Given the description of an element on the screen output the (x, y) to click on. 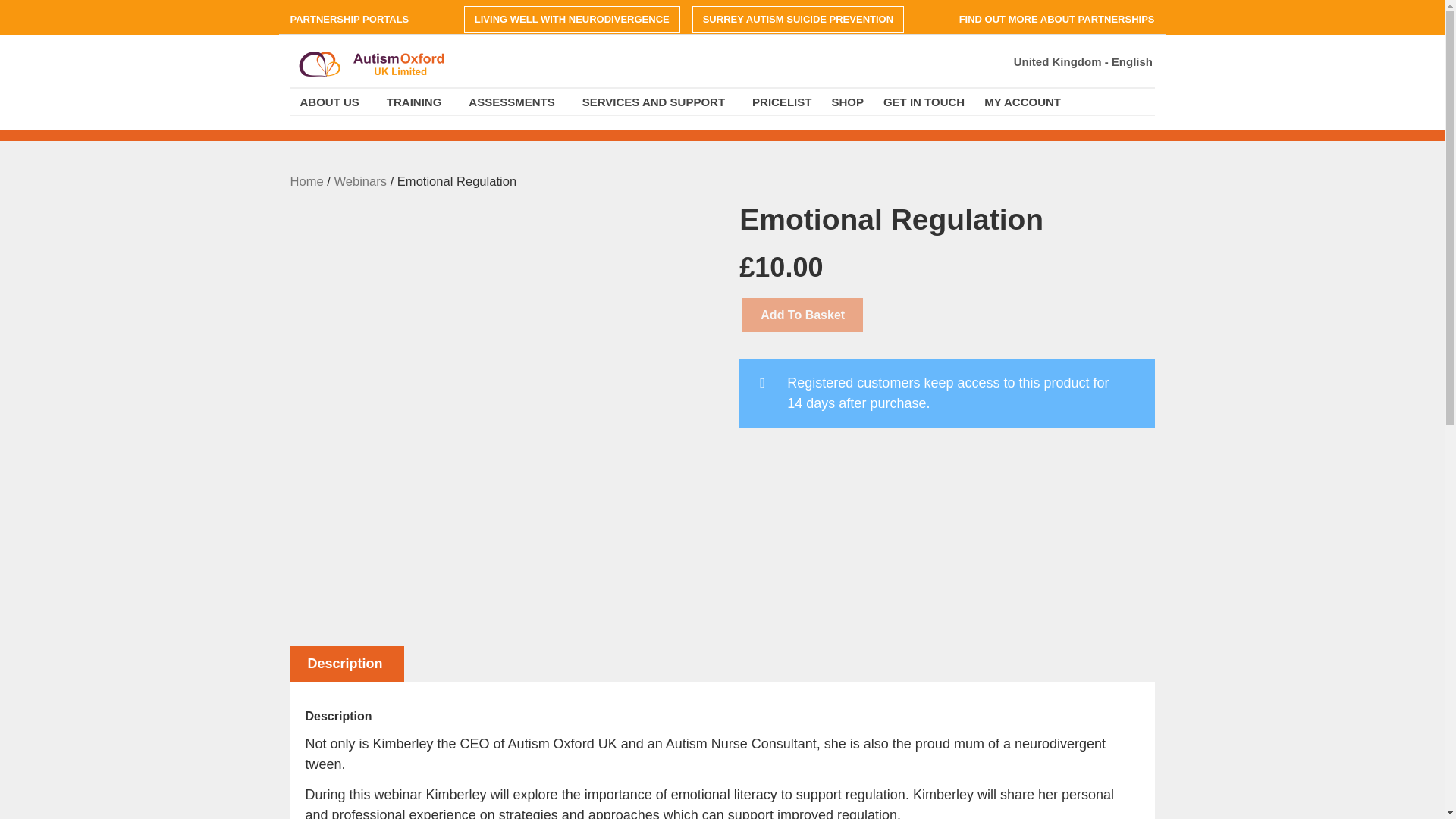
FIND OUT MORE ABOUT PARTNERSHIPS (1051, 18)
About Us (332, 100)
SERVICES AND SUPPORT (657, 100)
LIVING WELL WITH NEURODIVERGENCE (571, 18)
PARTNERSHIP PORTALS (354, 18)
TRAINING (418, 100)
Find out more about partnerships (1051, 18)
ABOUT US (332, 100)
Surrey Autism Suicide Prevention (798, 18)
Living well with Neurodivergence (571, 18)
